Given the description of an element on the screen output the (x, y) to click on. 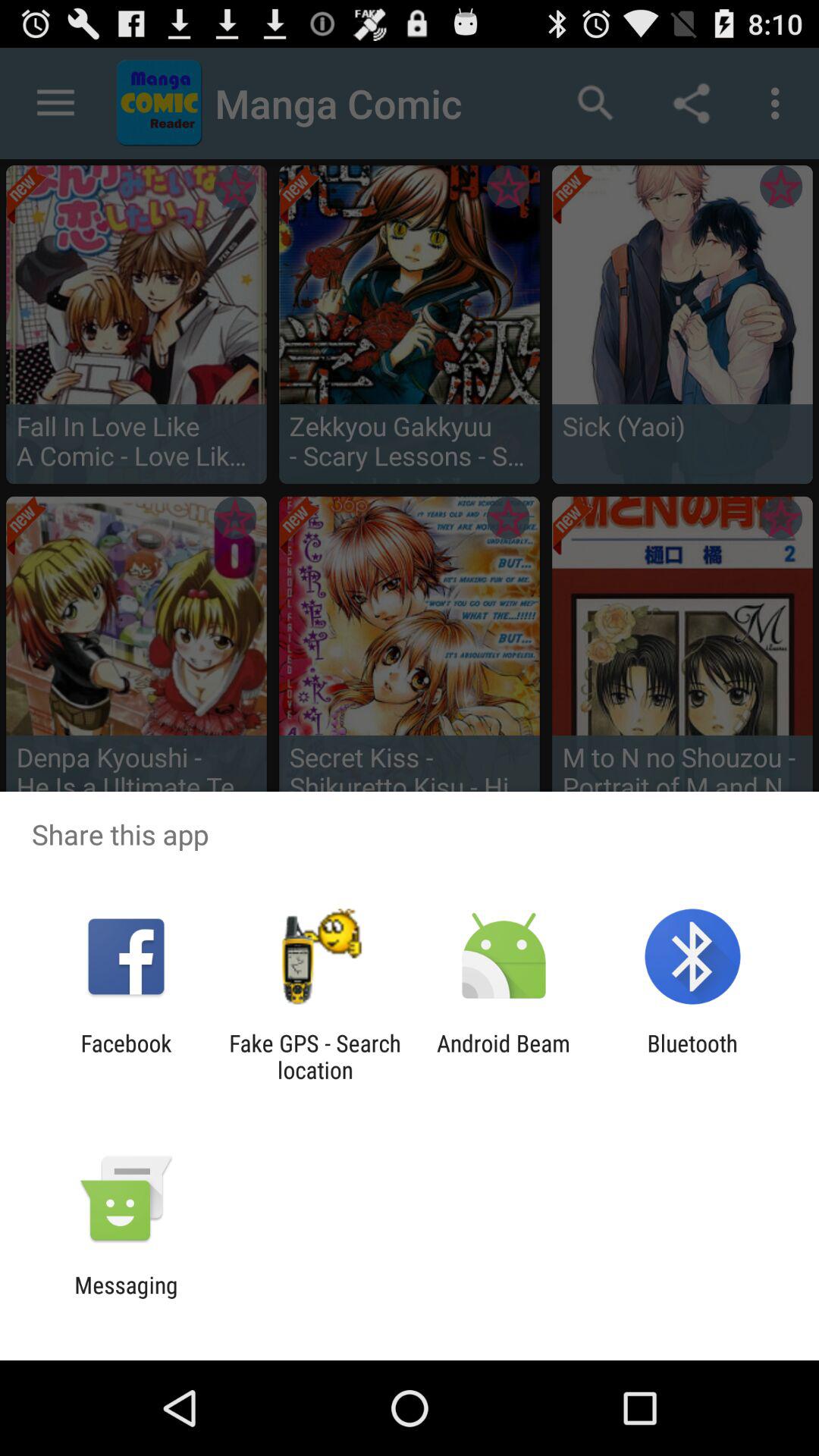
launch the item next to fake gps search item (503, 1056)
